Given the description of an element on the screen output the (x, y) to click on. 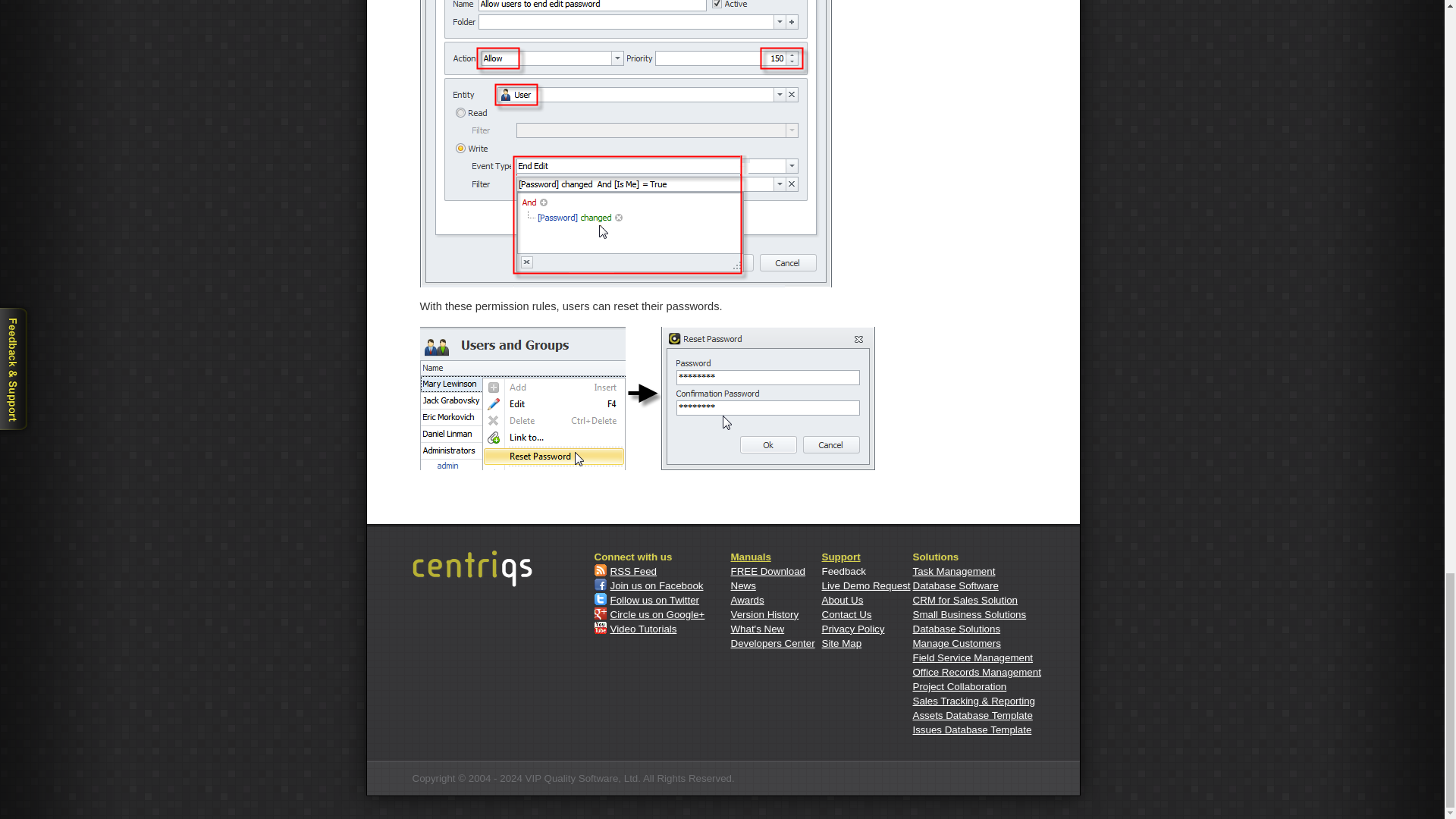
Follow us on Twitter (654, 600)
Manage Customers (956, 643)
About Us (842, 600)
Developers Center (772, 643)
Version History (764, 614)
RSS Feed (633, 571)
Live Demo Request (866, 585)
FREE Download (768, 571)
Small Business Solutions (969, 614)
Contact Us (847, 614)
Join us on Facebook (656, 585)
Assets Database Template (972, 715)
CRM for Sales Solution (964, 600)
Join us on Facebook (656, 585)
What's New (757, 628)
